Given the description of an element on the screen output the (x, y) to click on. 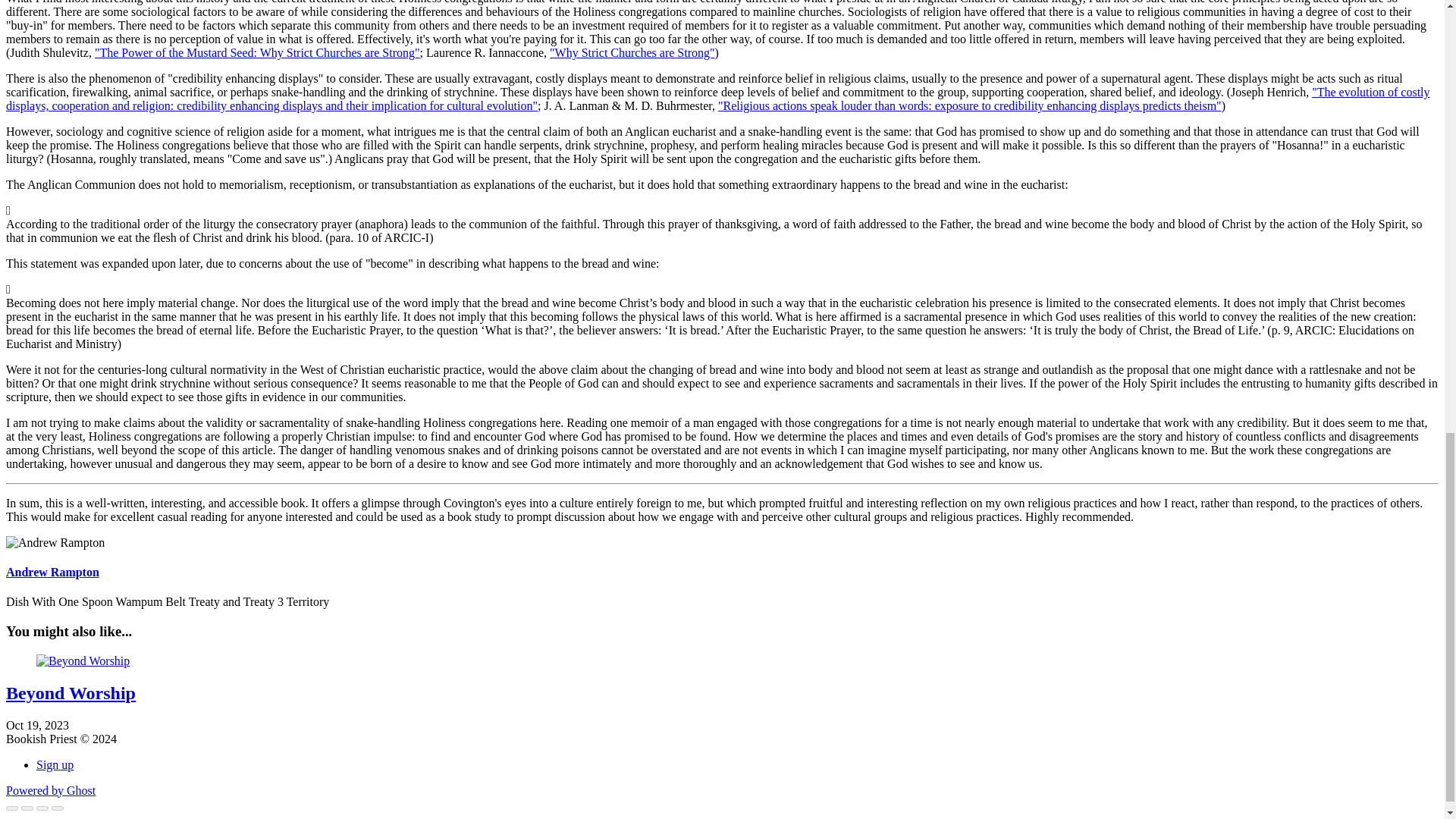
"Why Strict Churches are Strong" (632, 51)
Powered by Ghost (50, 789)
Toggle fullscreen (42, 807)
Share (27, 807)
Sign up (55, 764)
Andrew Rampton (52, 571)
Beyond Worship (70, 692)
